Given the description of an element on the screen output the (x, y) to click on. 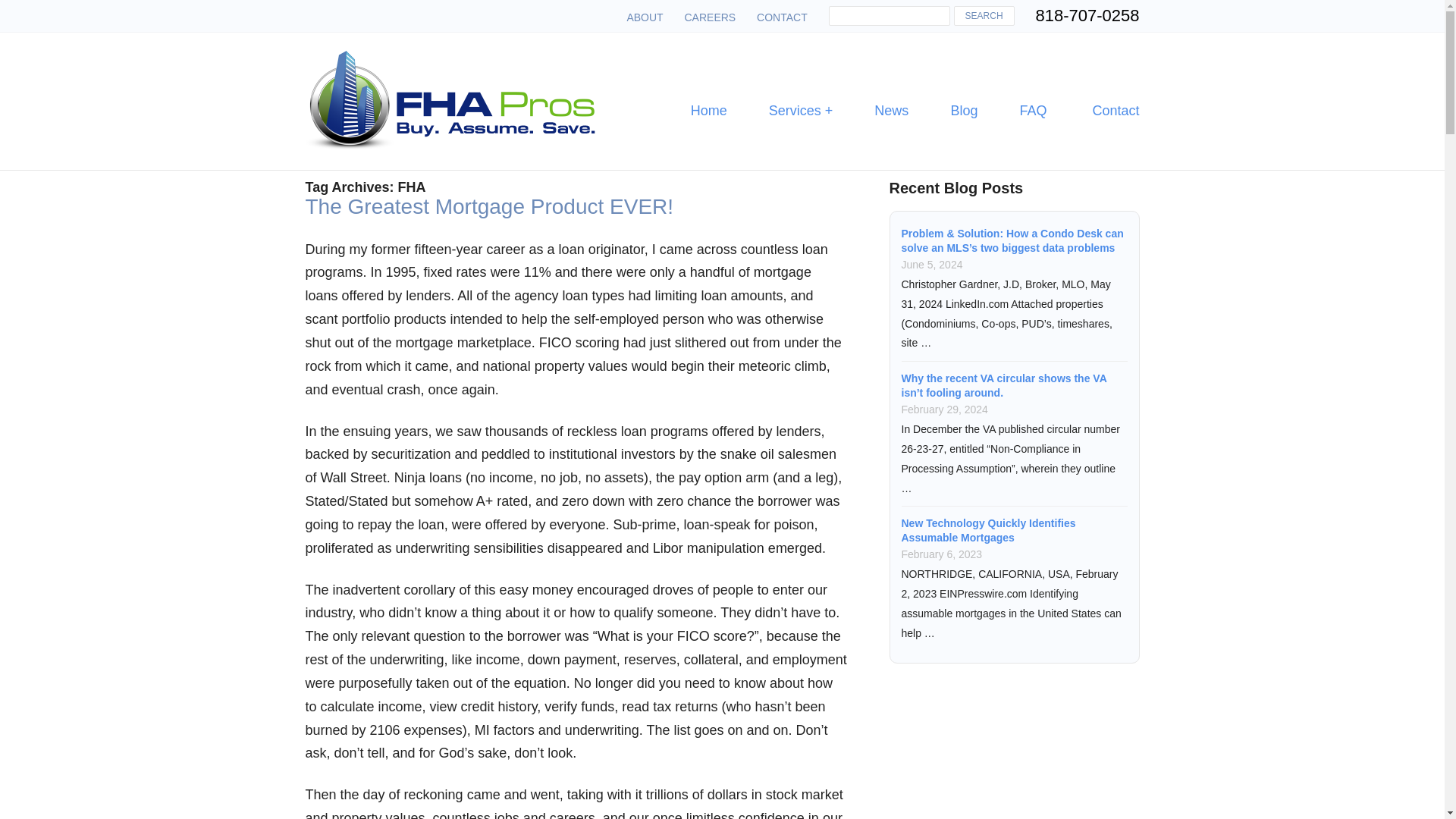
CONTACT (782, 17)
818-707-0258 (1086, 15)
The Greatest Mortgage Product EVER! (488, 206)
Services (800, 110)
Blog (963, 110)
News (891, 110)
Contact (1103, 110)
Search (983, 15)
Home (708, 110)
CAREERS (709, 17)
ABOUT (644, 17)
Search (983, 15)
Search (983, 15)
FAQ (1032, 110)
